Given the description of an element on the screen output the (x, y) to click on. 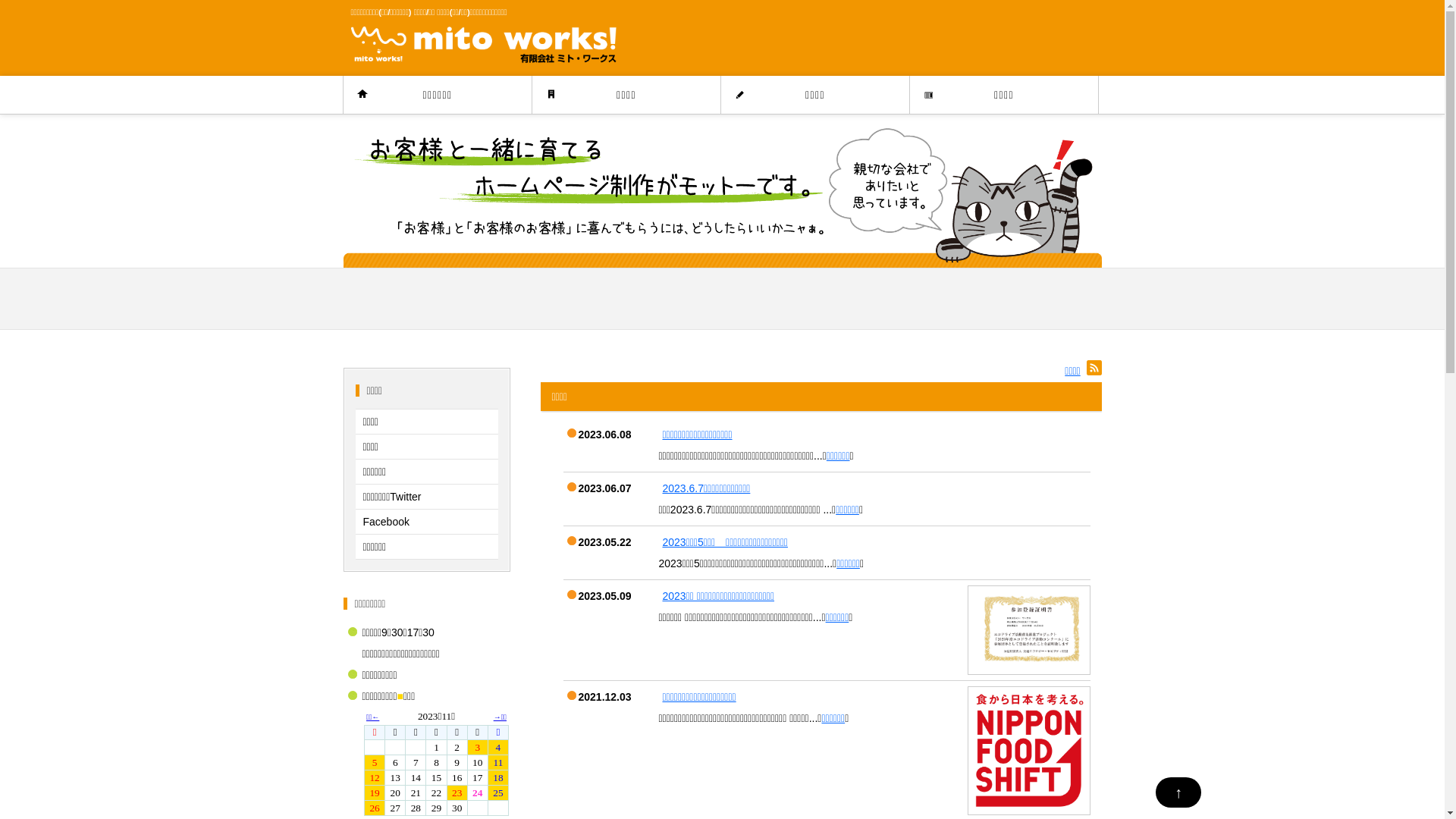
Facebook Element type: text (425, 521)
